Given the description of an element on the screen output the (x, y) to click on. 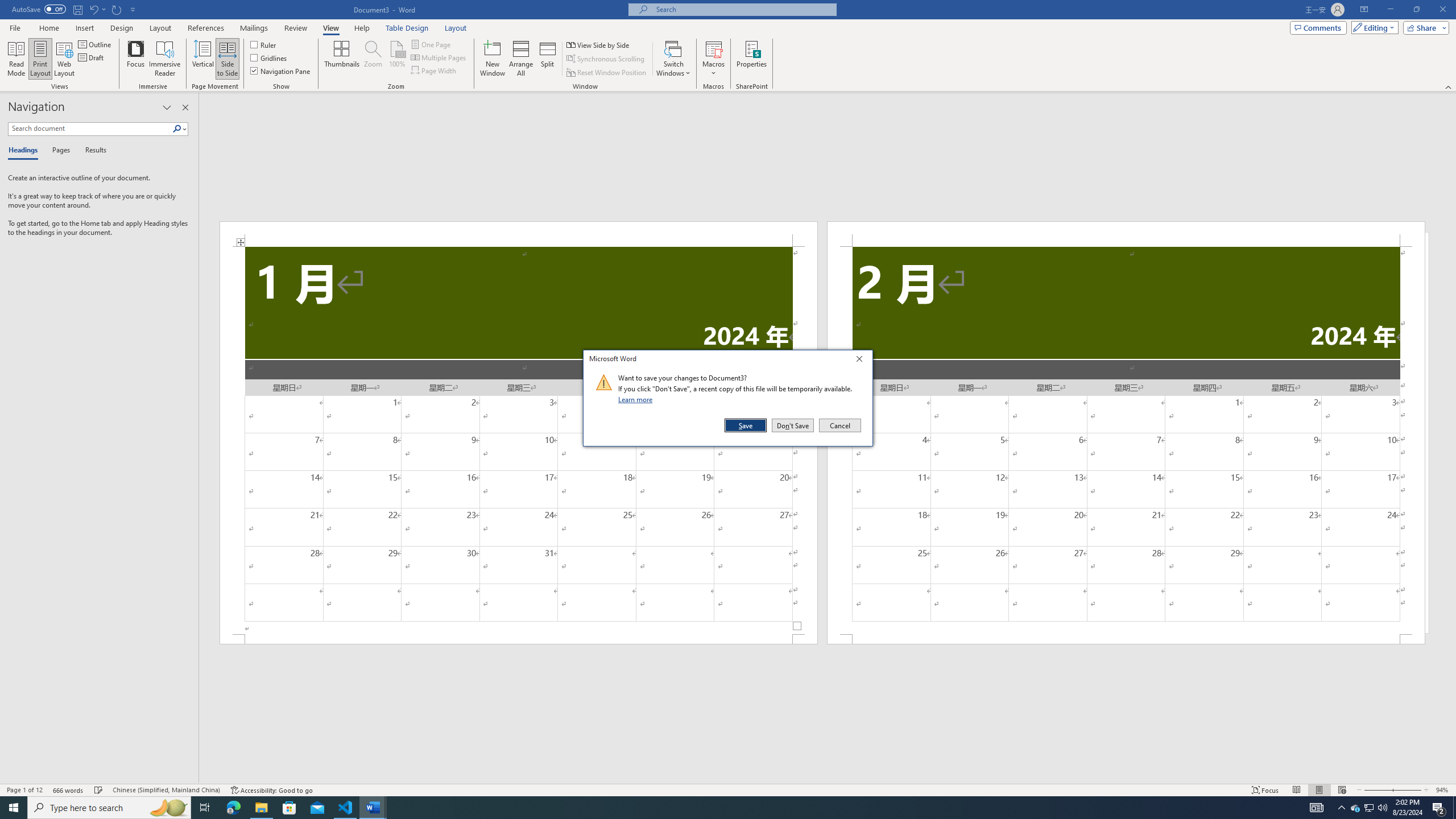
Cancel (839, 425)
Type here to search (108, 807)
Side to Side (226, 58)
One Page (431, 44)
